Given the description of an element on the screen output the (x, y) to click on. 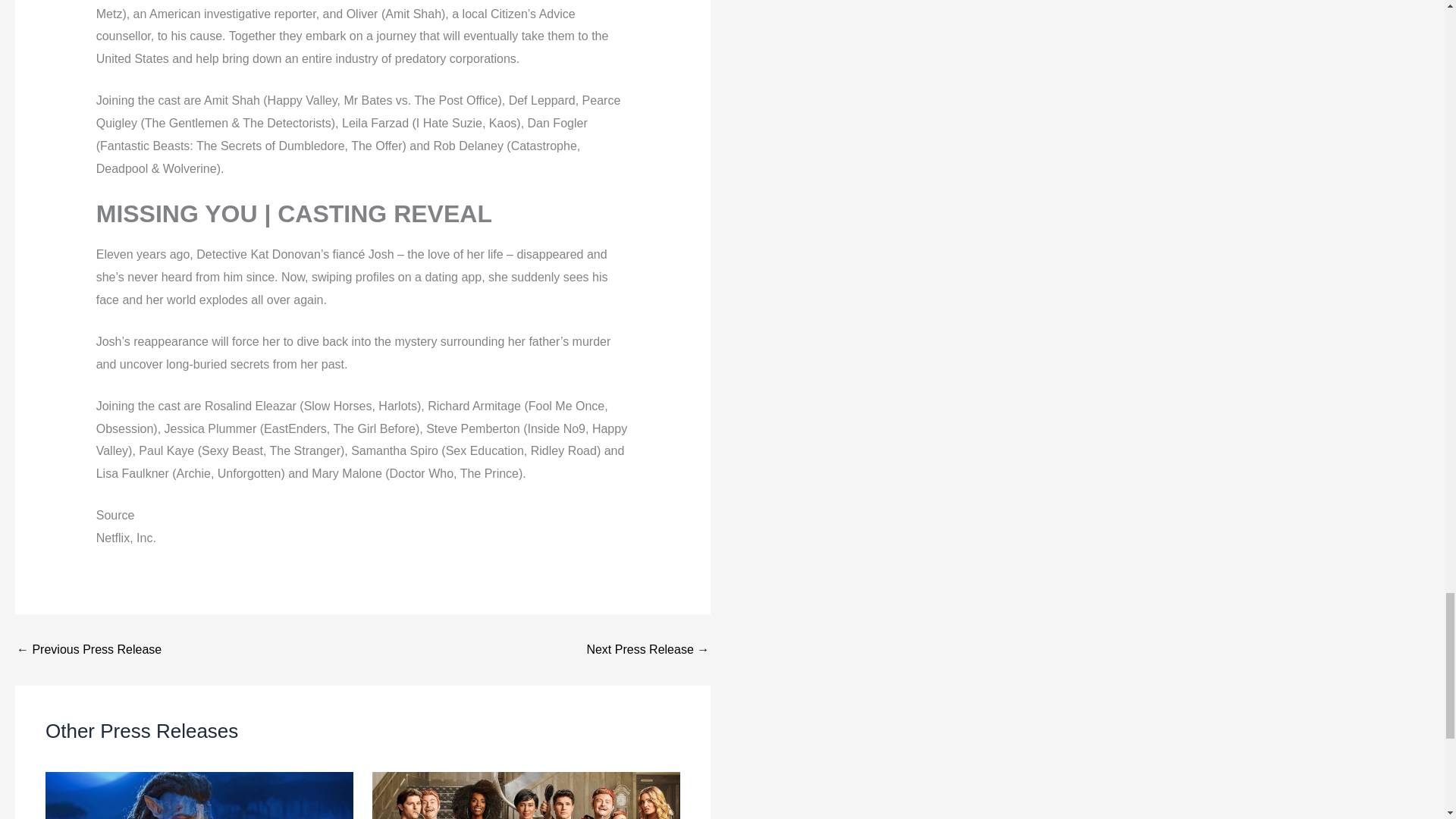
John Rubinstein Guests On Harvey Brownstone Interviews (88, 649)
